Given the description of an element on the screen output the (x, y) to click on. 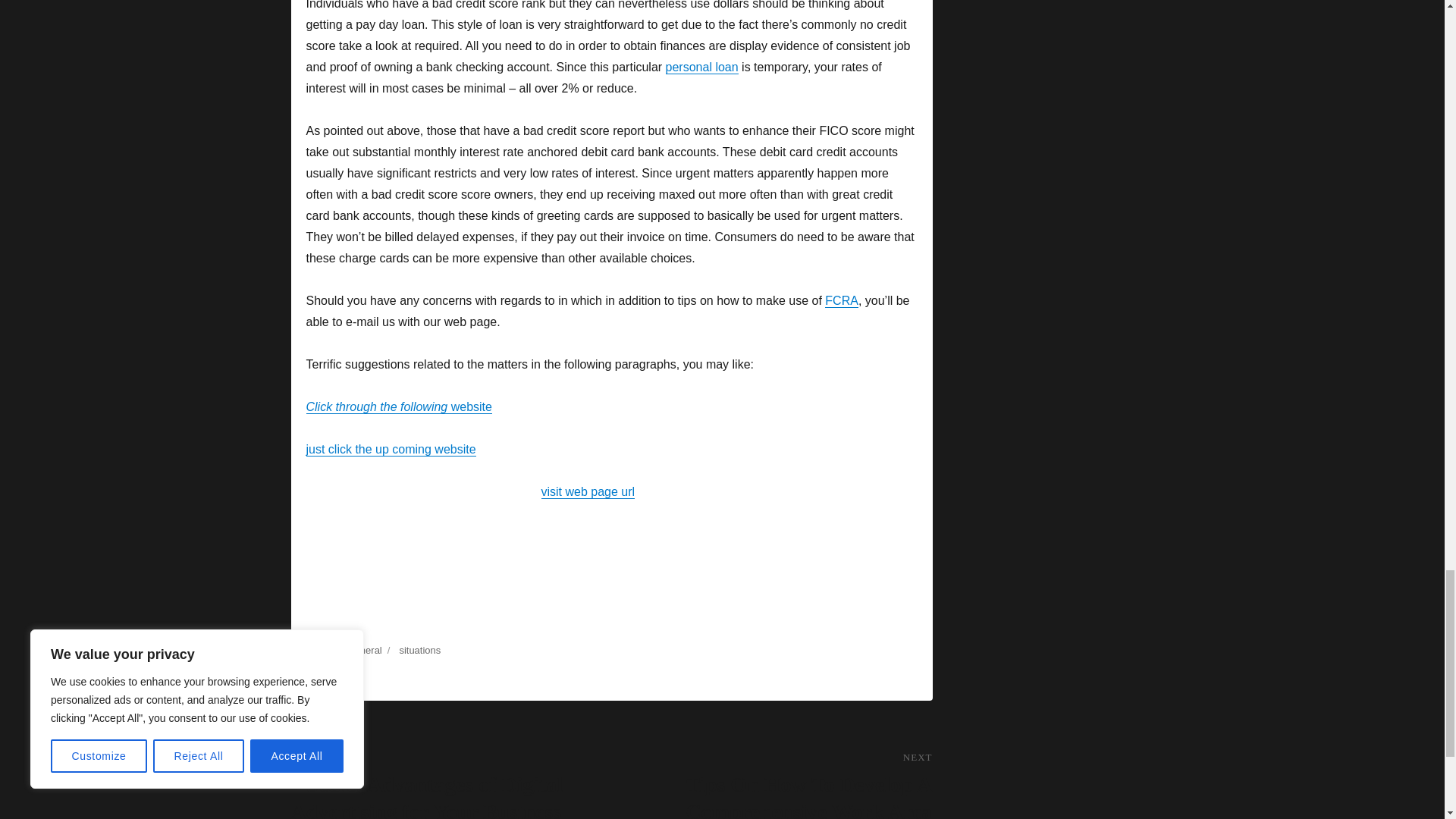
visit web page url (587, 491)
just click the up coming website (390, 449)
FCRA (842, 300)
personal loan (701, 66)
General (364, 650)
situations (419, 650)
Click through the following website (398, 406)
